Given the description of an element on the screen output the (x, y) to click on. 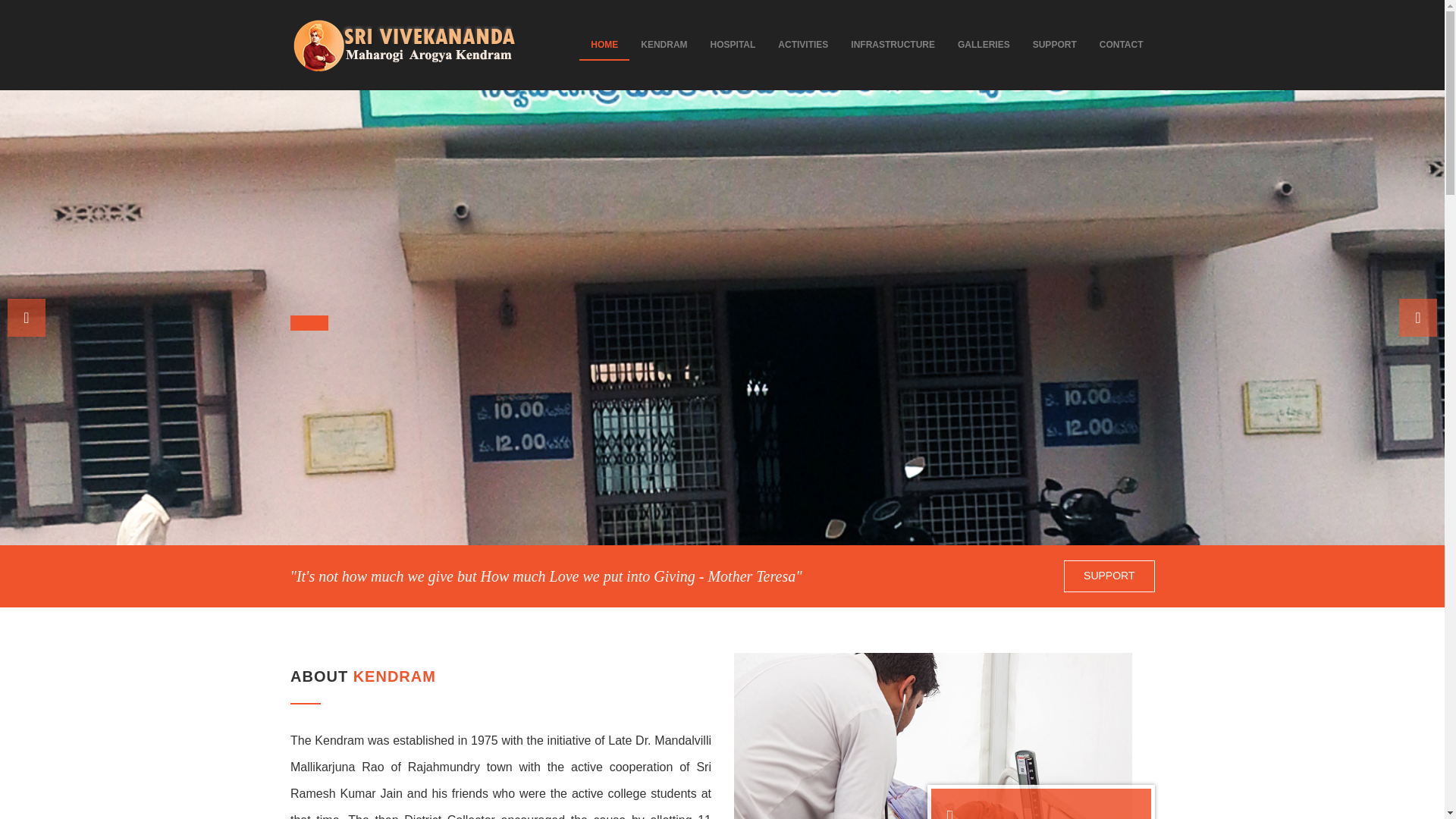
KENDRAM (663, 44)
INFRASTRUCTURE (893, 44)
ACTIVITIES (803, 44)
SUPPORT (1109, 576)
HOSPITAL (732, 44)
CONTACT (1120, 44)
HOME (603, 44)
SUPPORT (1054, 44)
GALLERIES (984, 44)
